Given the description of an element on the screen output the (x, y) to click on. 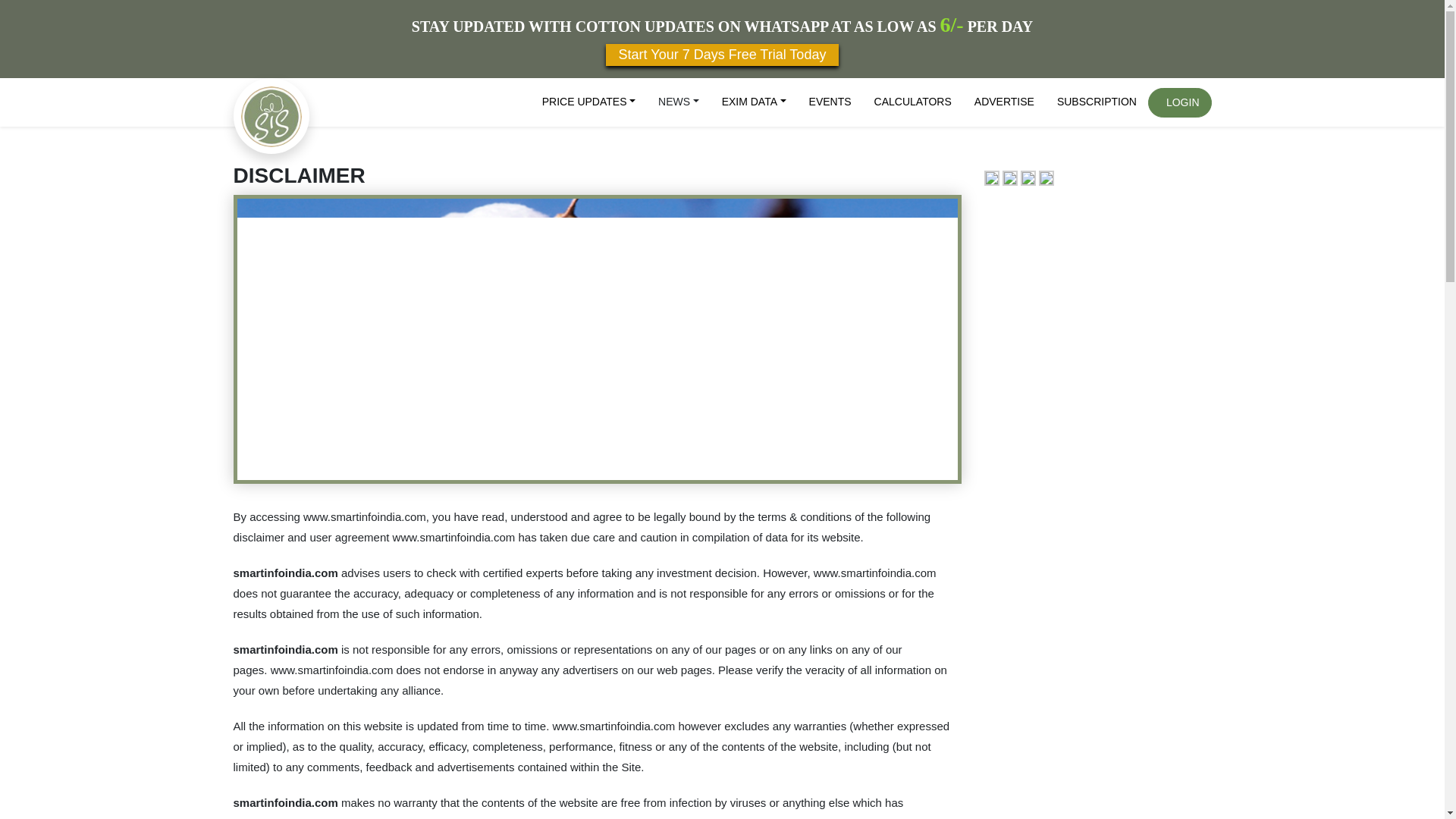
CALCULATORS (912, 101)
NEWS (678, 101)
EVENTS (830, 101)
EXIM DATA (753, 101)
PRICE UPDATES (588, 101)
Smart Info Services (270, 115)
Start Your 7 Days Free Trial Today (722, 55)
